Given the description of an element on the screen output the (x, y) to click on. 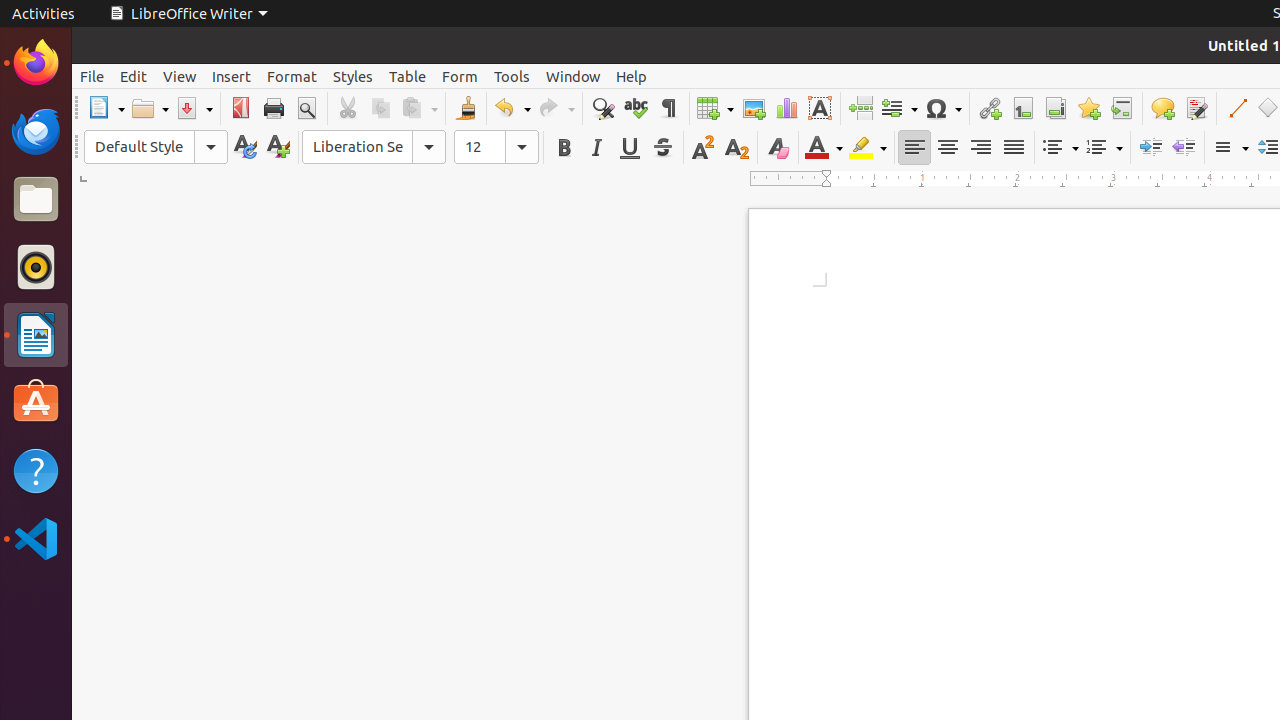
Print Element type: push-button (273, 108)
Justified Element type: toggle-button (1013, 147)
Clear Element type: push-button (777, 147)
Footnote Element type: push-button (1022, 108)
PDF Element type: push-button (240, 108)
